Given the description of an element on the screen output the (x, y) to click on. 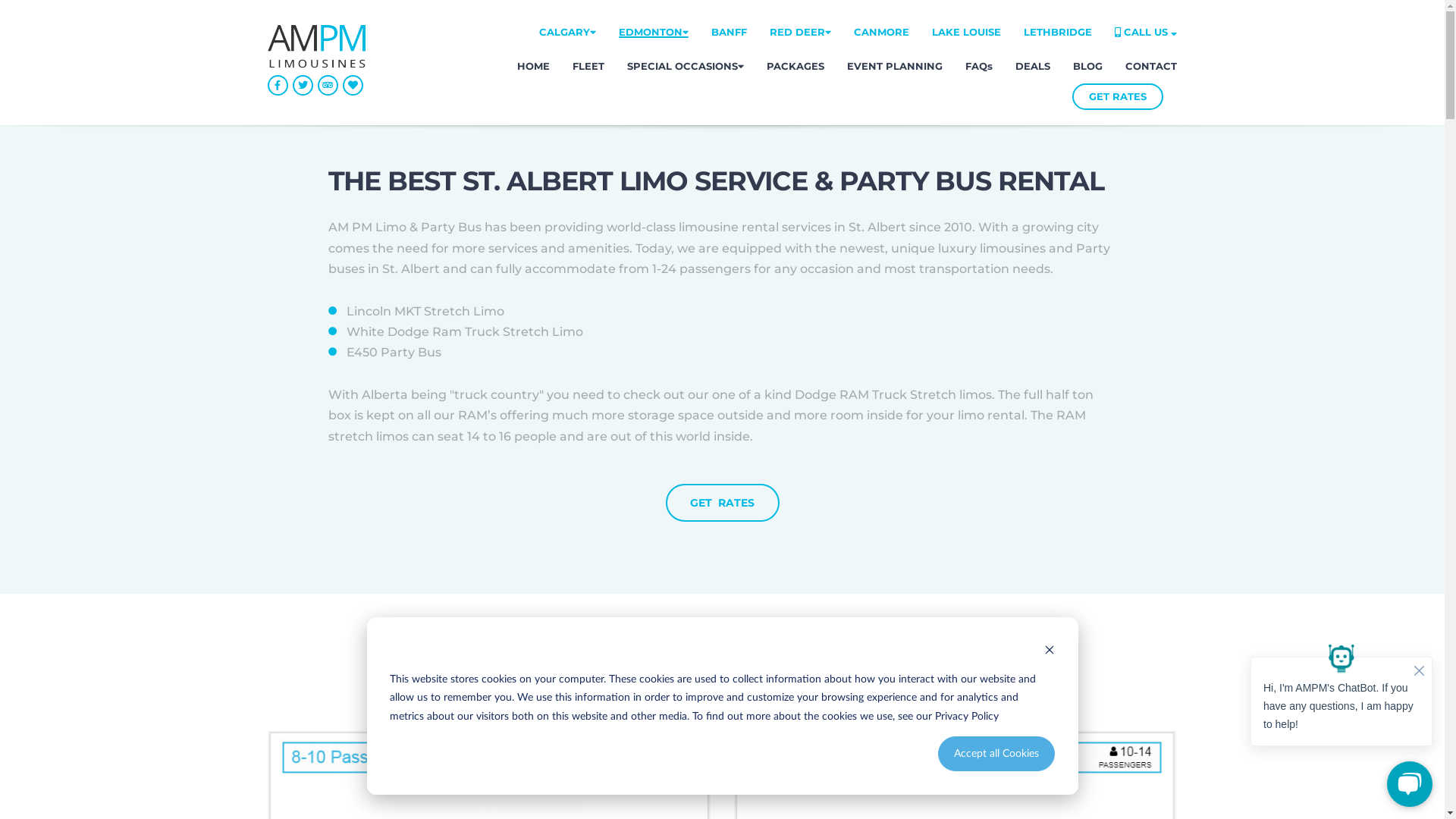
DEALS Element type: text (1032, 66)
logo-ampm Element type: hover (315, 46)
RED DEER Element type: text (800, 32)
CONTACT Element type: text (1150, 66)
CALGARY Element type: text (567, 32)
 CALL US  Element type: text (1145, 32)
Accept all Cookies Element type: text (996, 753)
EDMONTON Element type: text (653, 32)
FLEET Element type: text (588, 66)
SPECIAL OCCASIONS Element type: text (685, 66)
LETHBRIDGE Element type: text (1057, 32)
BANFF Element type: text (728, 32)
PACKAGES Element type: text (795, 66)
EVENT PLANNING Element type: text (894, 66)
CANMORE Element type: text (881, 32)
HOME Element type: text (533, 66)
GET RATES Element type: text (1117, 96)
FAQs Element type: text (978, 66)
GET  RATES Element type: text (722, 502)
LAKE LOUISE Element type: text (966, 32)
BLOG Element type: text (1087, 66)
